Given the description of an element on the screen output the (x, y) to click on. 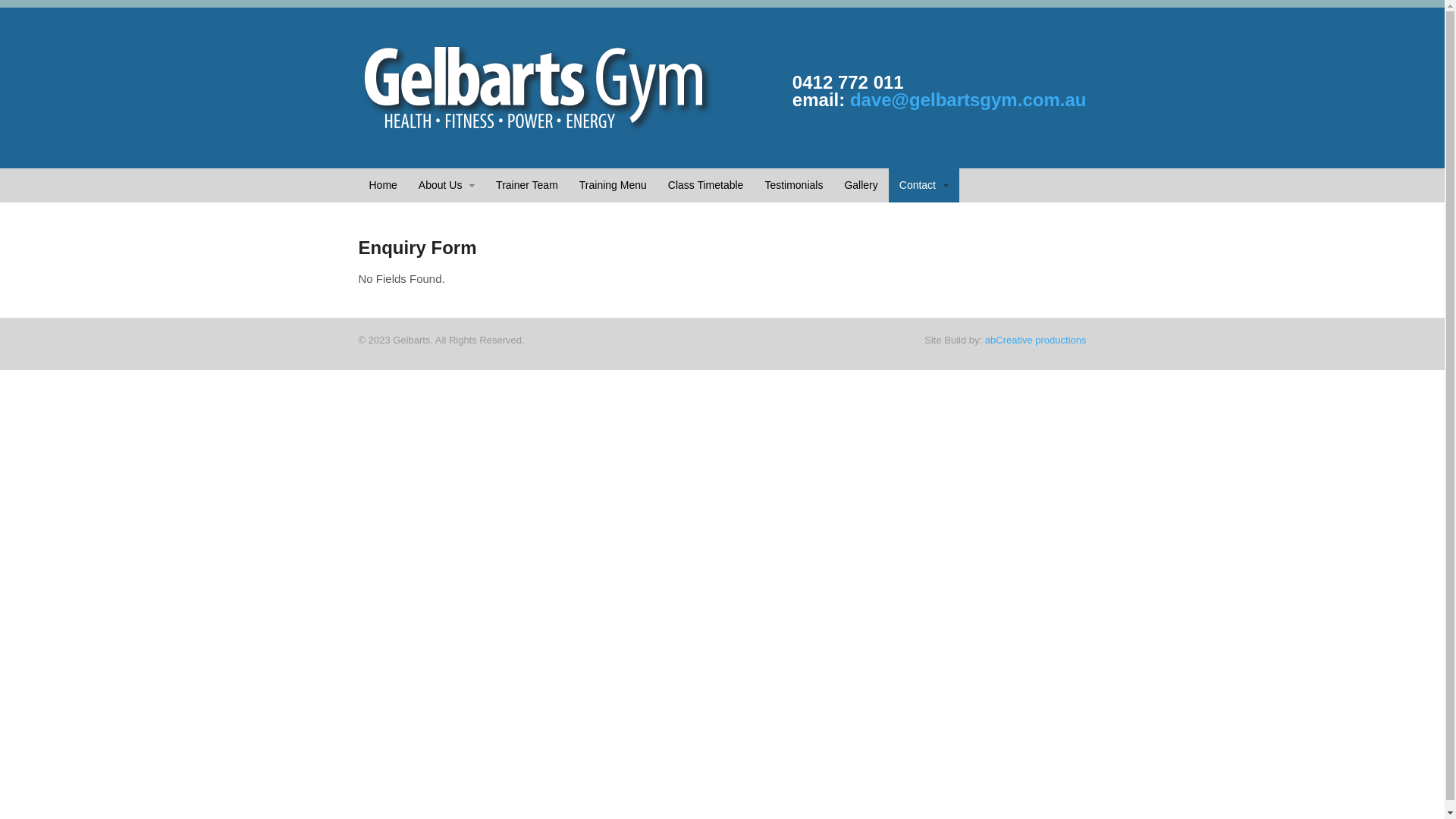
Home Element type: text (382, 185)
Gallery Element type: text (860, 185)
abCreative productions Element type: text (1035, 339)
Trainer Team Element type: text (526, 185)
Testimonials Element type: text (793, 185)
About Us Element type: text (446, 185)
Training Menu Element type: text (612, 185)
Contact Element type: text (923, 185)
dave@gelbartsgym.com.au Element type: text (968, 99)
Class Timetable Element type: text (705, 185)
